Given the description of an element on the screen output the (x, y) to click on. 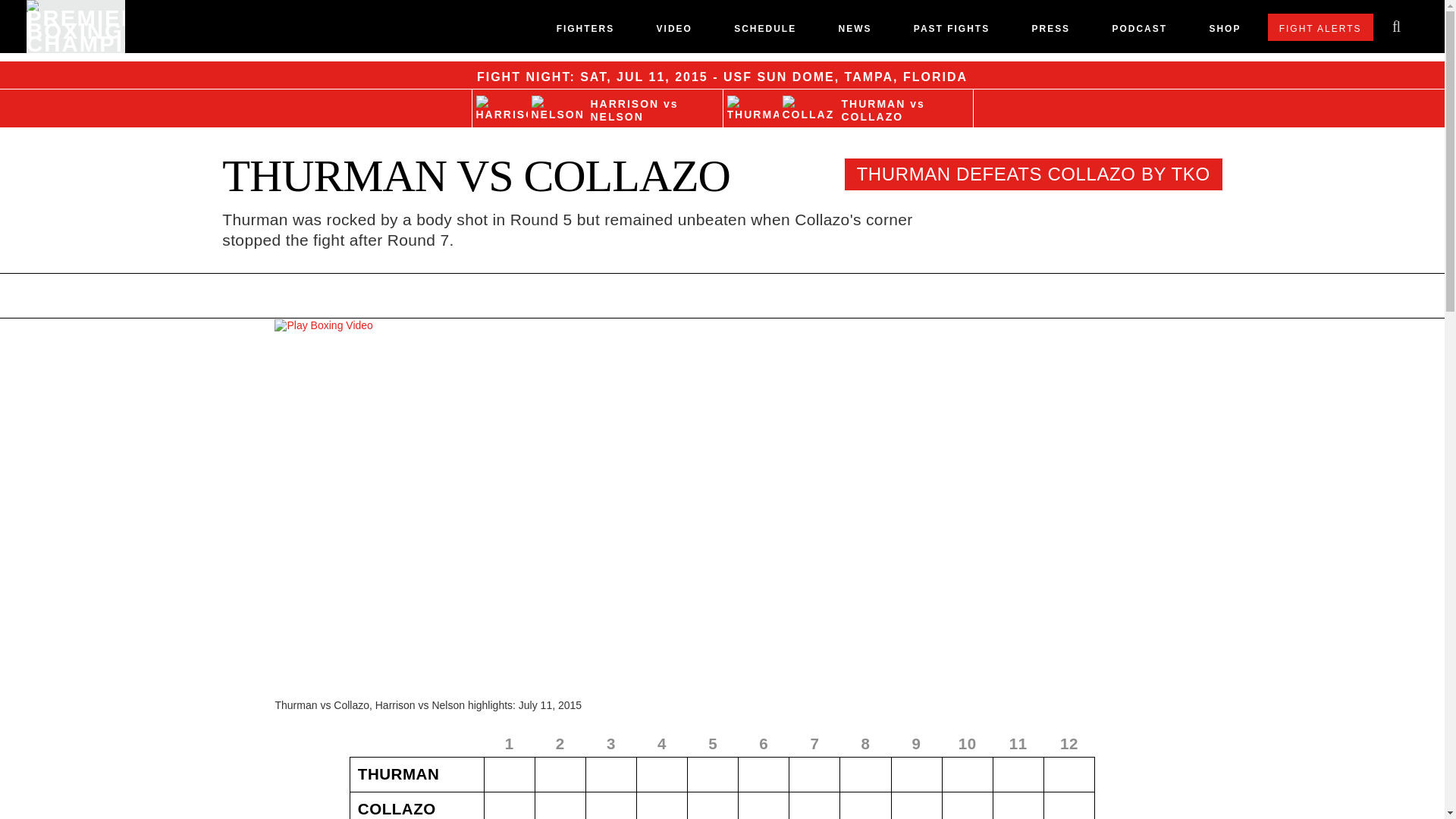
July (629, 76)
FIGHT ALERTS (1320, 27)
NEWS (854, 31)
versus (917, 103)
Saturday (593, 76)
PAST FIGHTS (952, 31)
THURMAN vs COLLAZO (847, 108)
versus (670, 103)
VIDEO (674, 31)
